Given the description of an element on the screen output the (x, y) to click on. 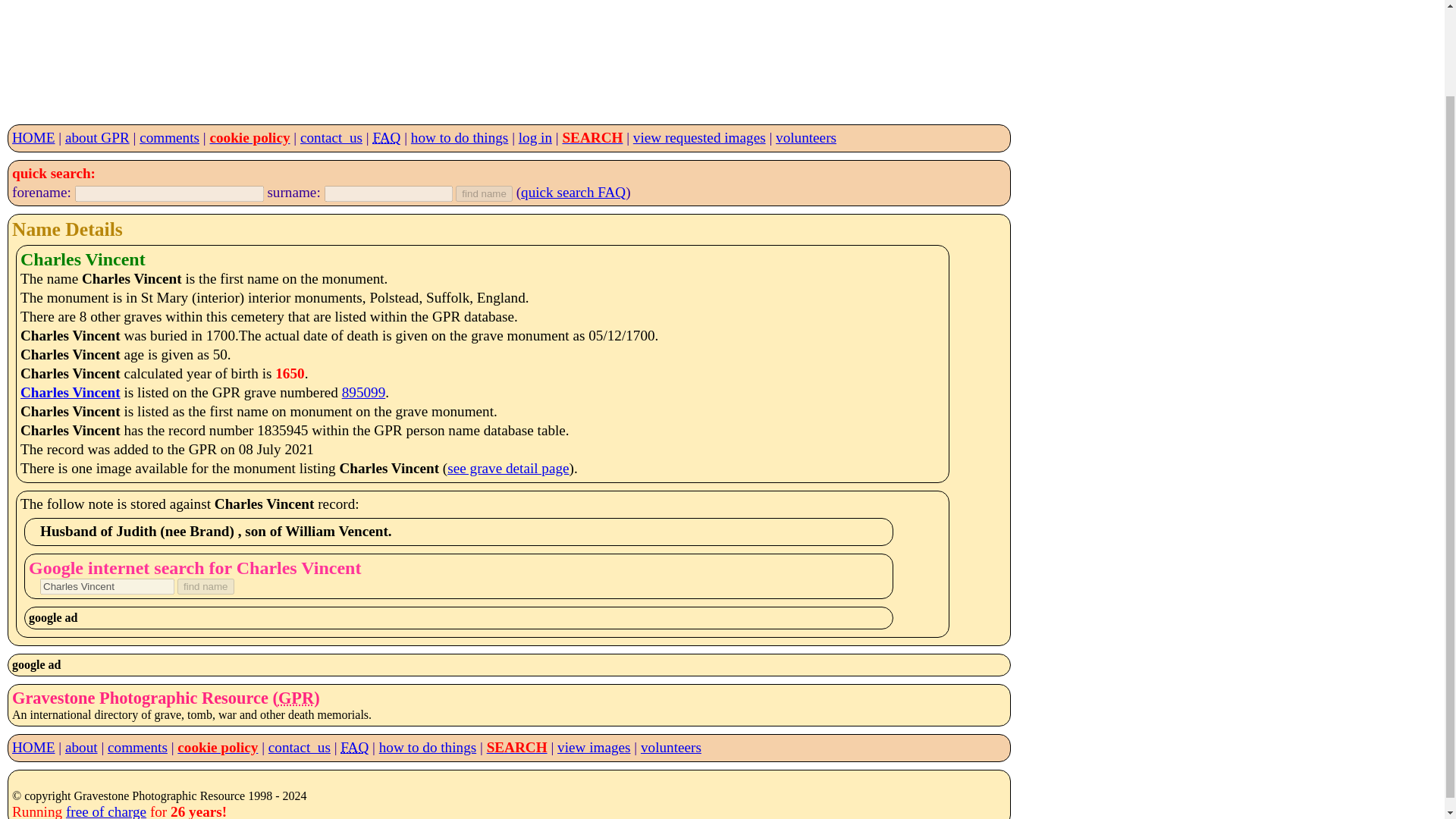
SEARCH (516, 747)
find name (205, 586)
find name (205, 586)
Gravestone Photographic Resource (296, 697)
view images (593, 747)
895099 (363, 392)
FAQ (354, 747)
about GPR (97, 137)
HOME (33, 137)
find name (483, 193)
log in (534, 137)
quick search FAQ (573, 191)
volunteers (670, 747)
view requested images (699, 137)
FAQ (386, 137)
